Given the description of an element on the screen output the (x, y) to click on. 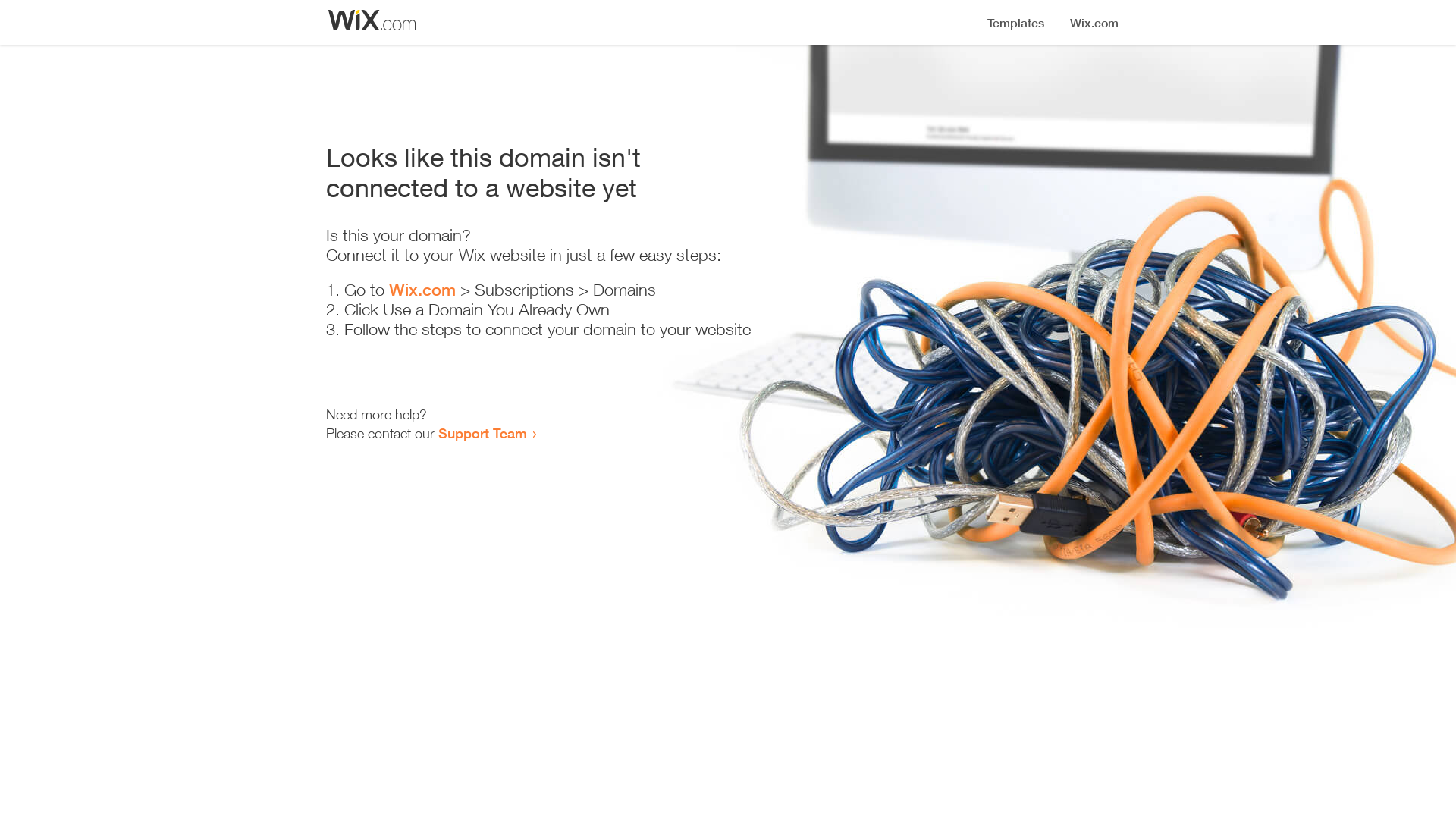
Wix.com Element type: text (422, 289)
Support Team Element type: text (482, 432)
